Given the description of an element on the screen output the (x, y) to click on. 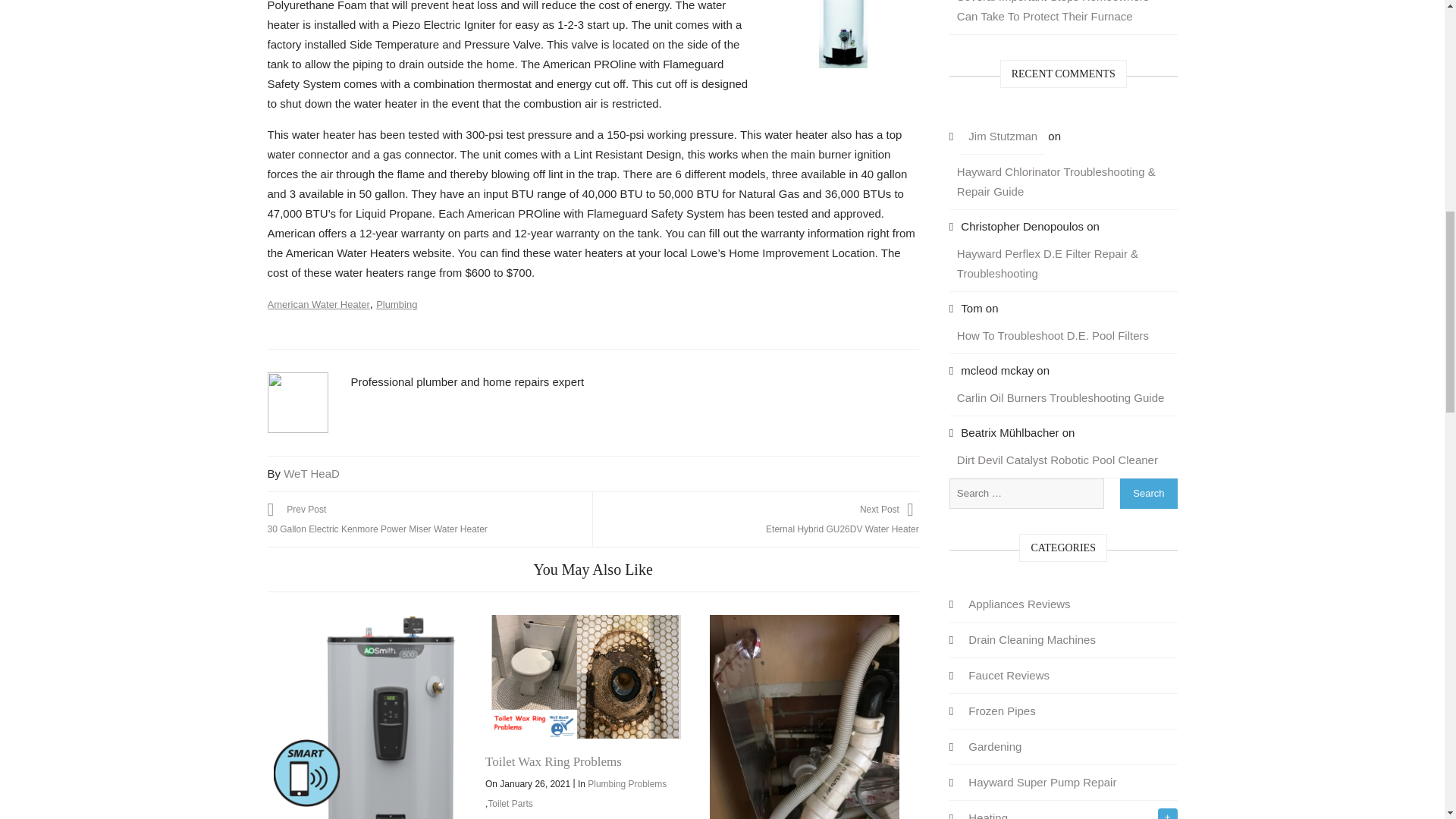
AO Smith 50 Gallon Energy Smart Electric Water Heater (368, 717)
Search (1147, 493)
Plumbing Problems (755, 519)
Toilet Wax Ring Problems (627, 783)
Toilet Parts (586, 677)
